Given the description of an element on the screen output the (x, y) to click on. 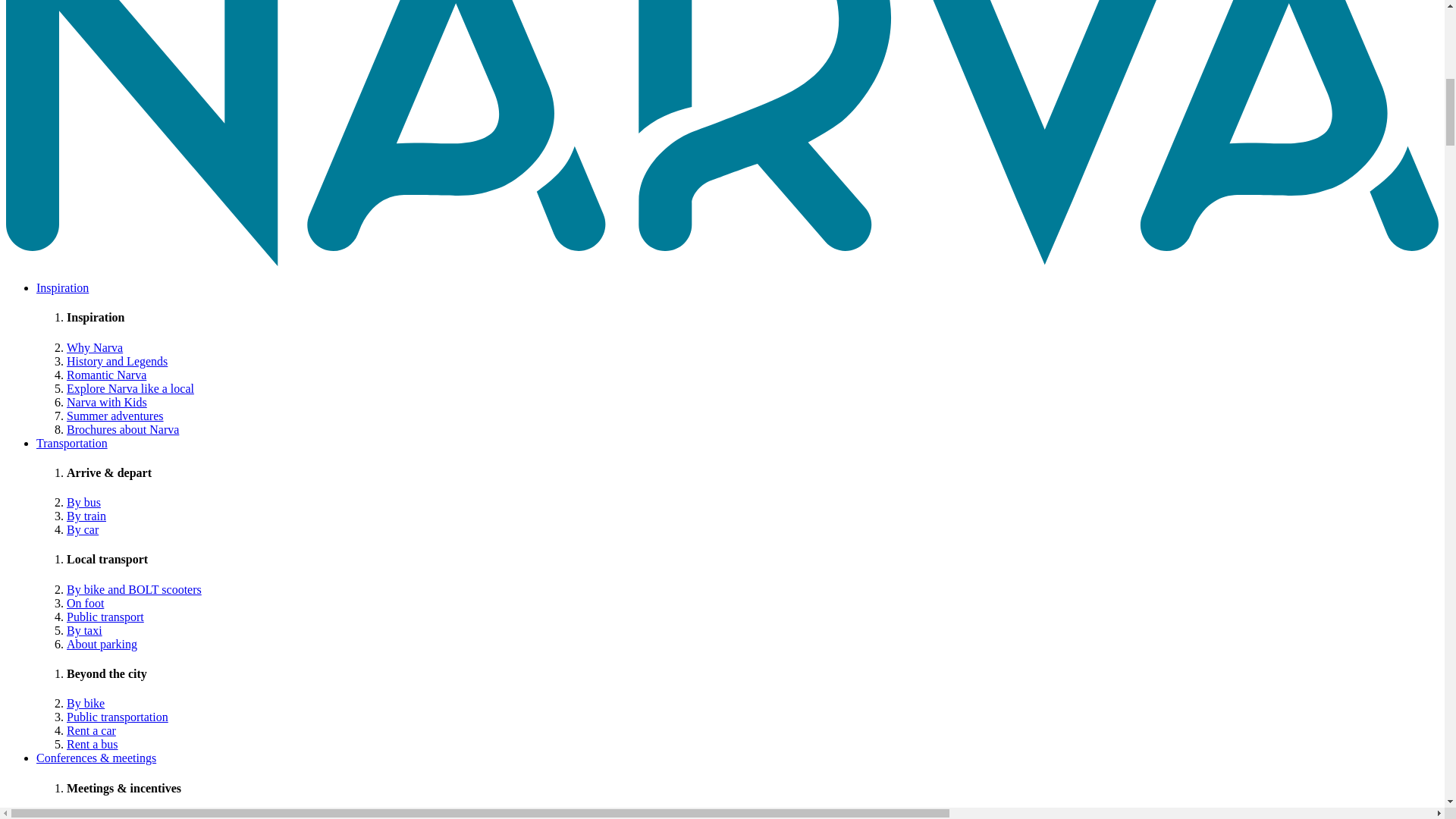
By taxi (83, 630)
Narva with Kids (106, 401)
Explore Narva like a local (129, 388)
By bus (83, 502)
Inspiration (62, 287)
Romantic Narva (106, 374)
Why Narva (94, 347)
Brochures about Narva (122, 429)
By car (82, 529)
By bike and BOLT scooters (134, 589)
Transportation (71, 442)
About parking (101, 644)
Public transport (105, 616)
Summer adventures (114, 415)
History and Legends (116, 360)
